Given the description of an element on the screen output the (x, y) to click on. 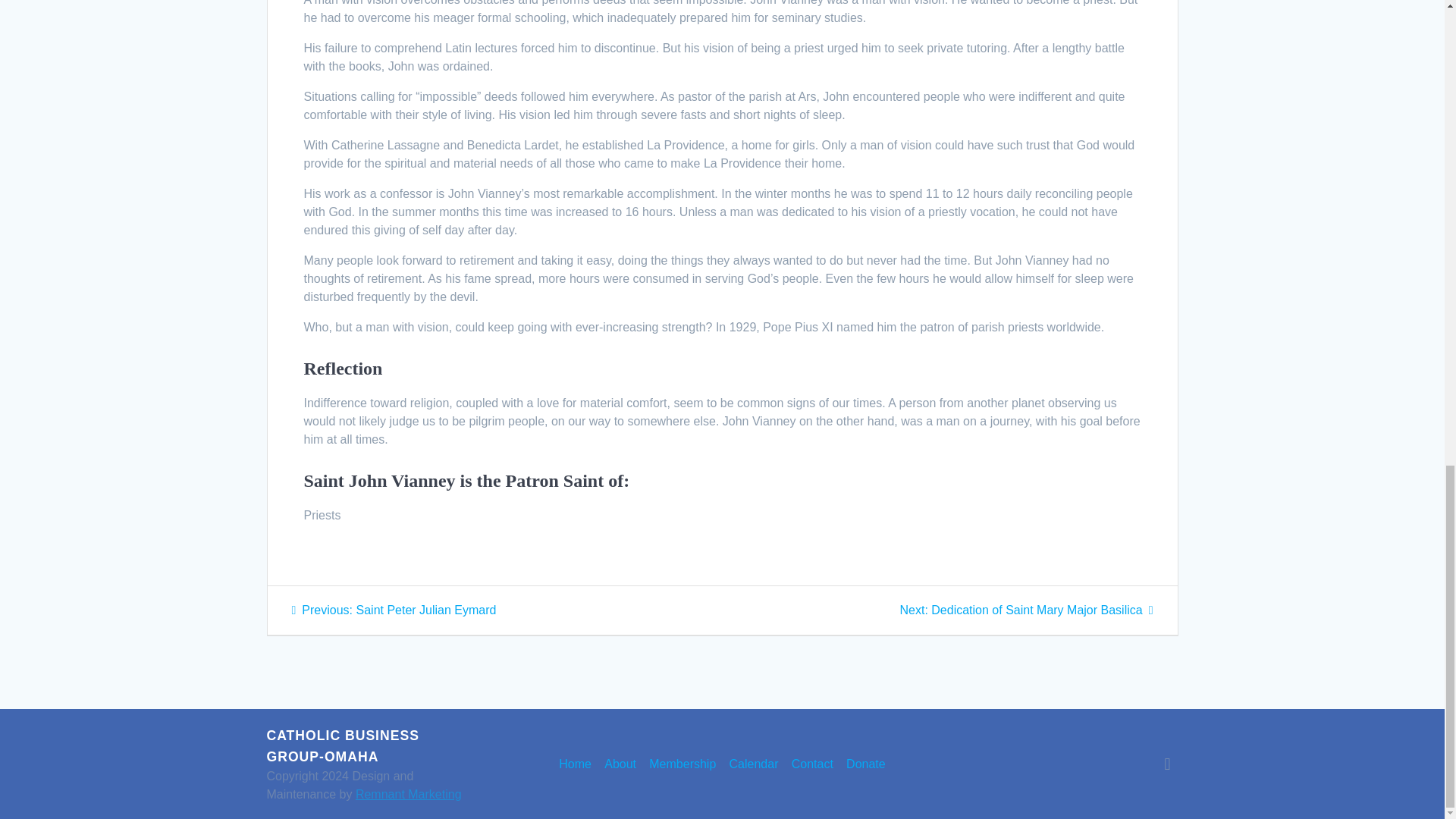
About (620, 764)
Calendar (753, 764)
Membership (682, 764)
Contact (812, 764)
Remnant Marketing (408, 793)
Home (1026, 609)
Donate (575, 764)
